Given the description of an element on the screen output the (x, y) to click on. 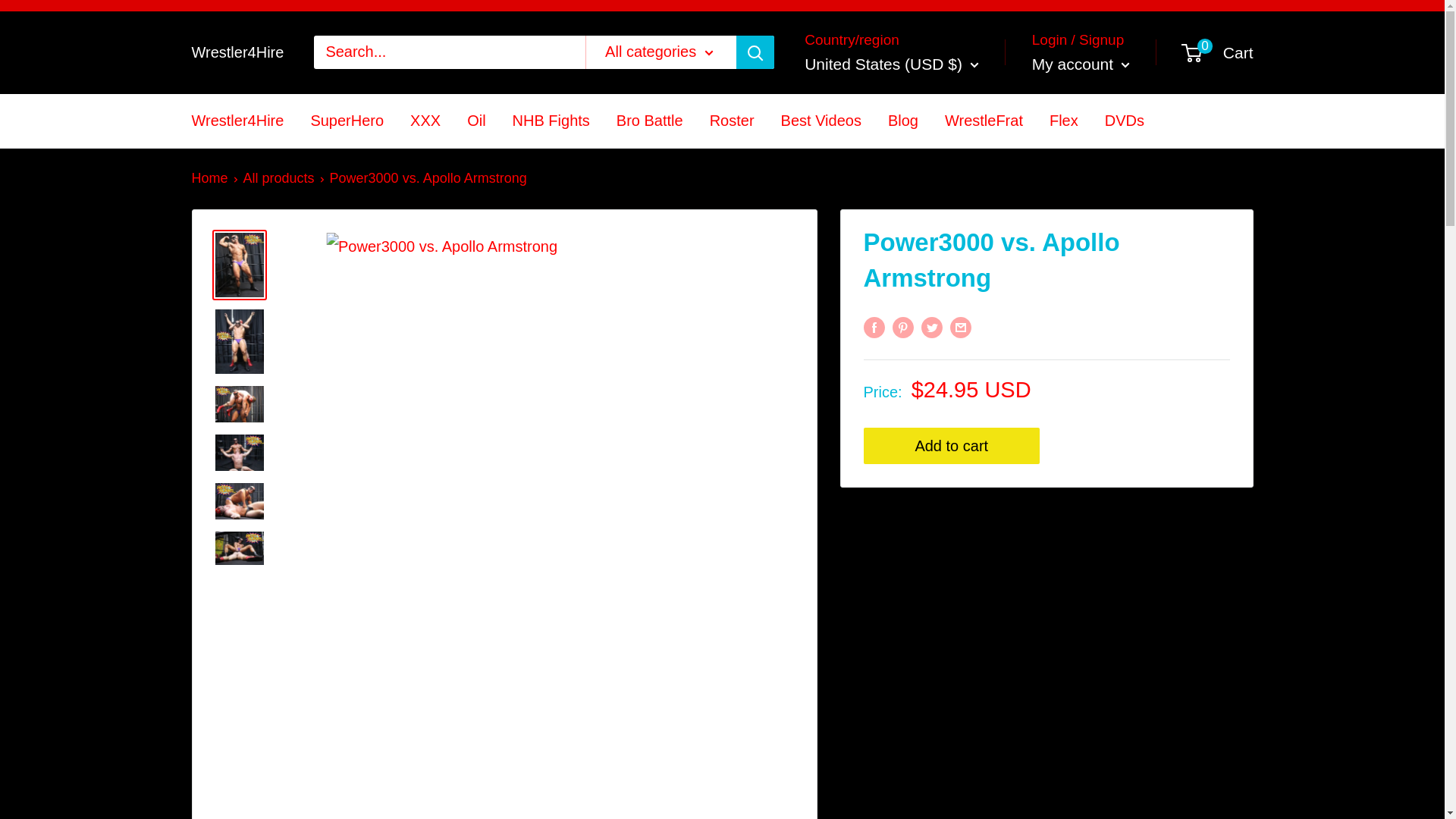
AI (819, 288)
AF (819, 119)
AT (819, 486)
BY (819, 655)
AM (819, 373)
BS (819, 542)
AU (819, 458)
AG (819, 317)
BH (819, 571)
AR (819, 345)
AX (819, 147)
AW (819, 401)
AD (819, 232)
AL (819, 175)
Wrestler4Hire (236, 52)
